Given the description of an element on the screen output the (x, y) to click on. 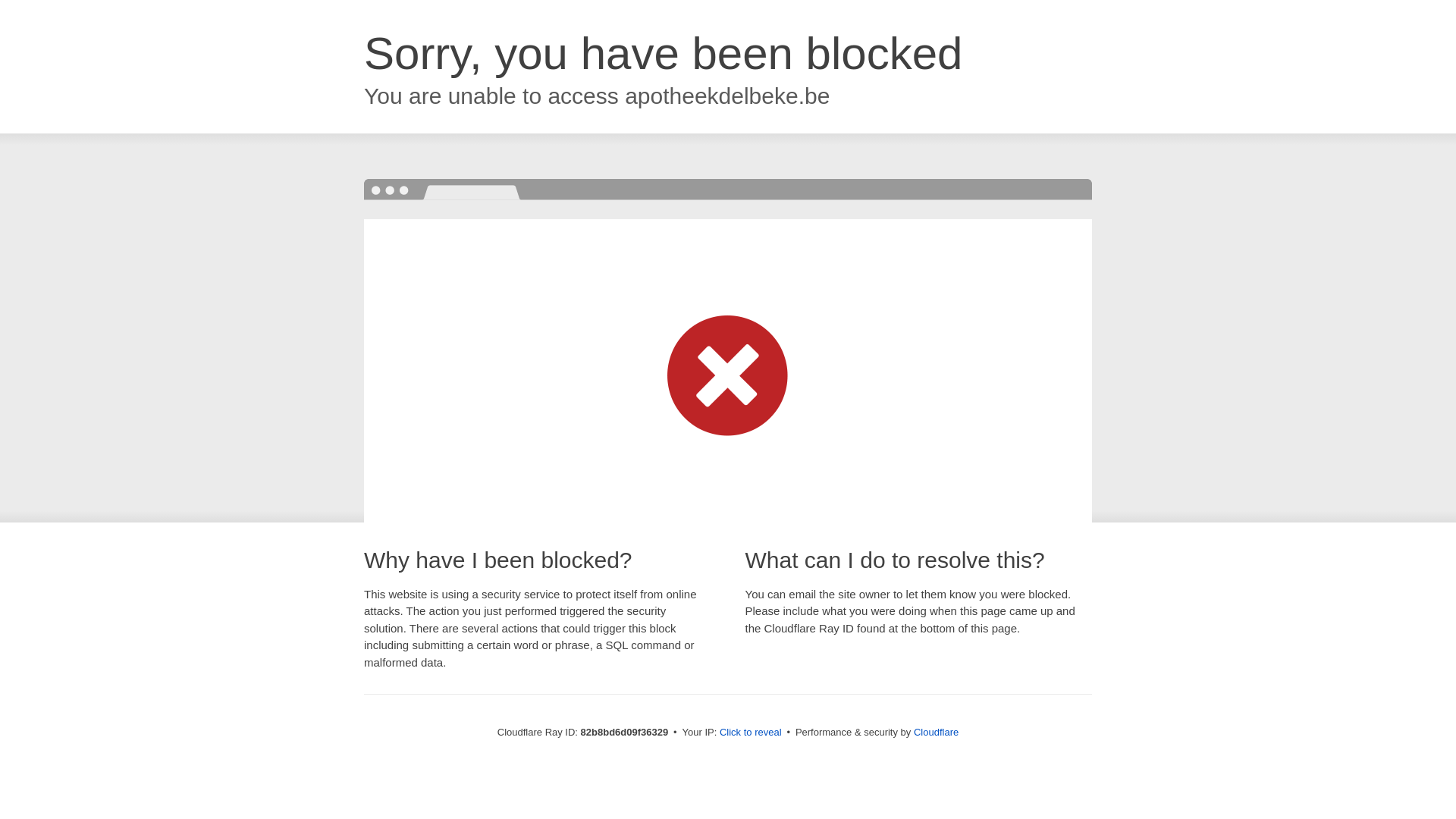
Click to reveal Element type: text (750, 732)
Cloudflare Element type: text (935, 731)
